Given the description of an element on the screen output the (x, y) to click on. 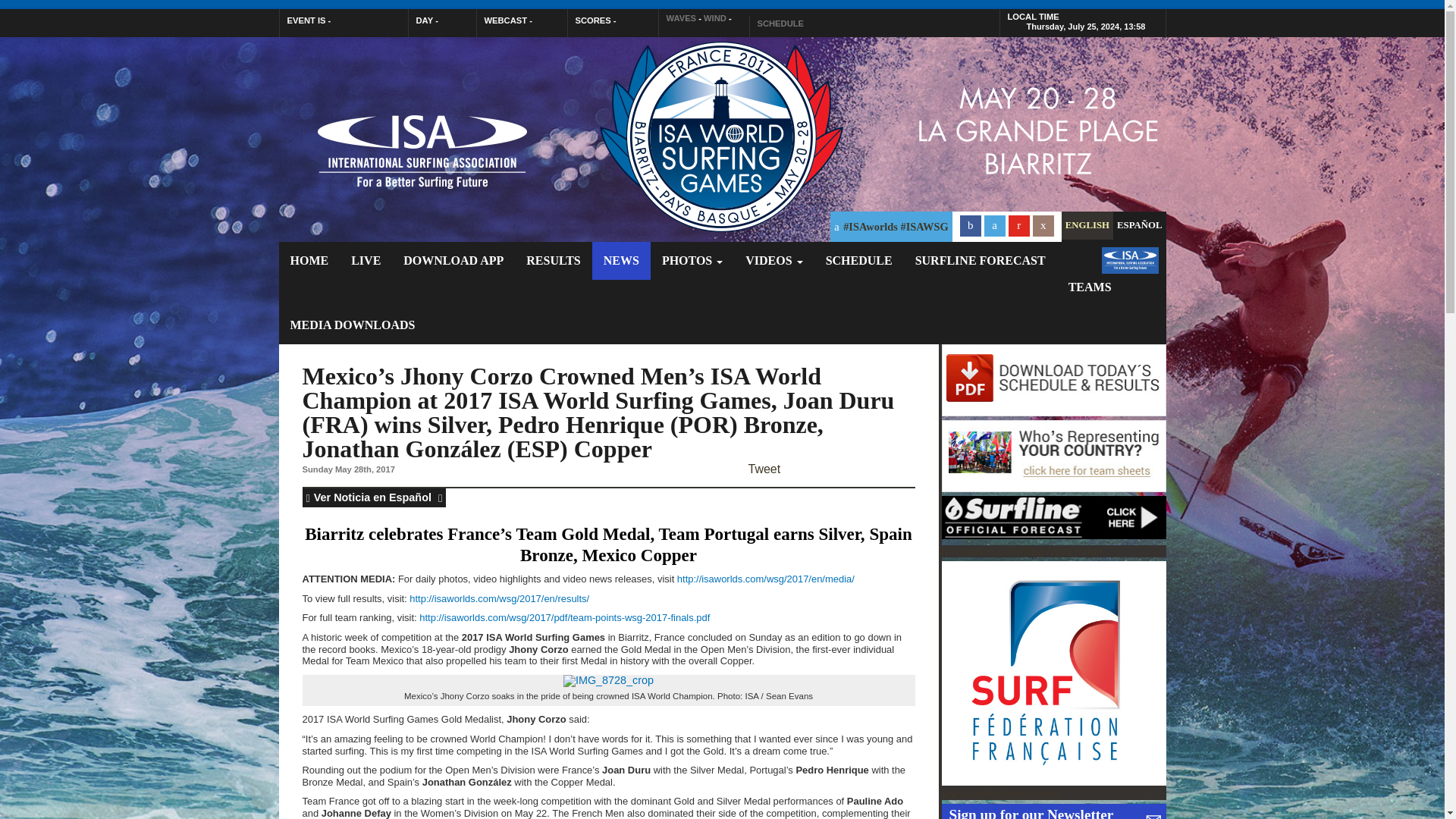
HOME (309, 260)
LIVE (365, 260)
MENU ITEM (1128, 273)
VIDEOS (773, 260)
DOWNLOAD APP (453, 260)
PHOTOS (691, 260)
RESULTS (553, 260)
TEAMS (1089, 287)
ENGLISH (1087, 225)
NEWS (621, 260)
SCHEDULE (858, 260)
MEDIA DOWNLOADS (352, 324)
SURFLINE FORECAST (980, 260)
